Given the description of an element on the screen output the (x, y) to click on. 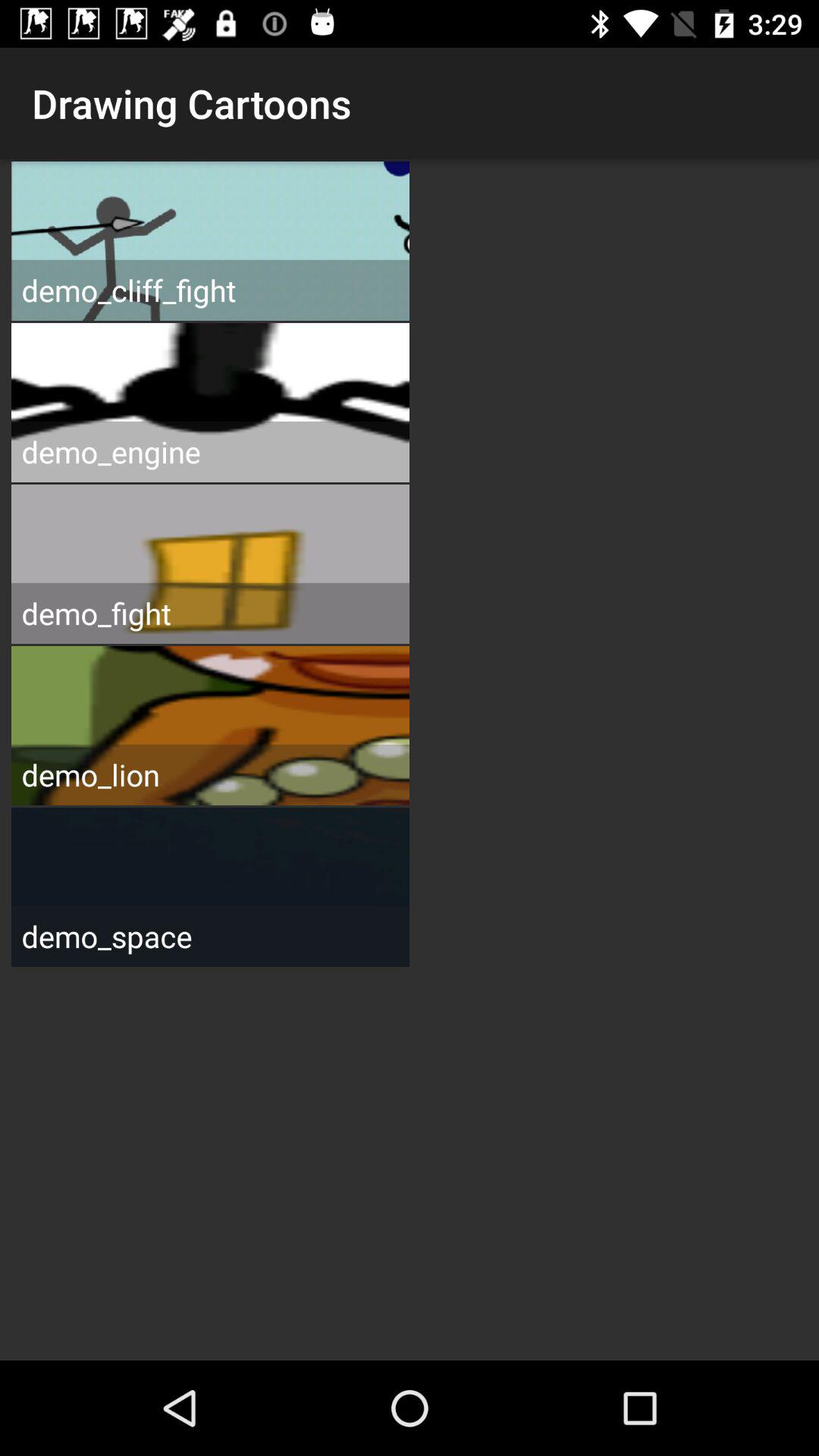
click on demospace shown at bottom of the page (210, 887)
